Given the description of an element on the screen output the (x, y) to click on. 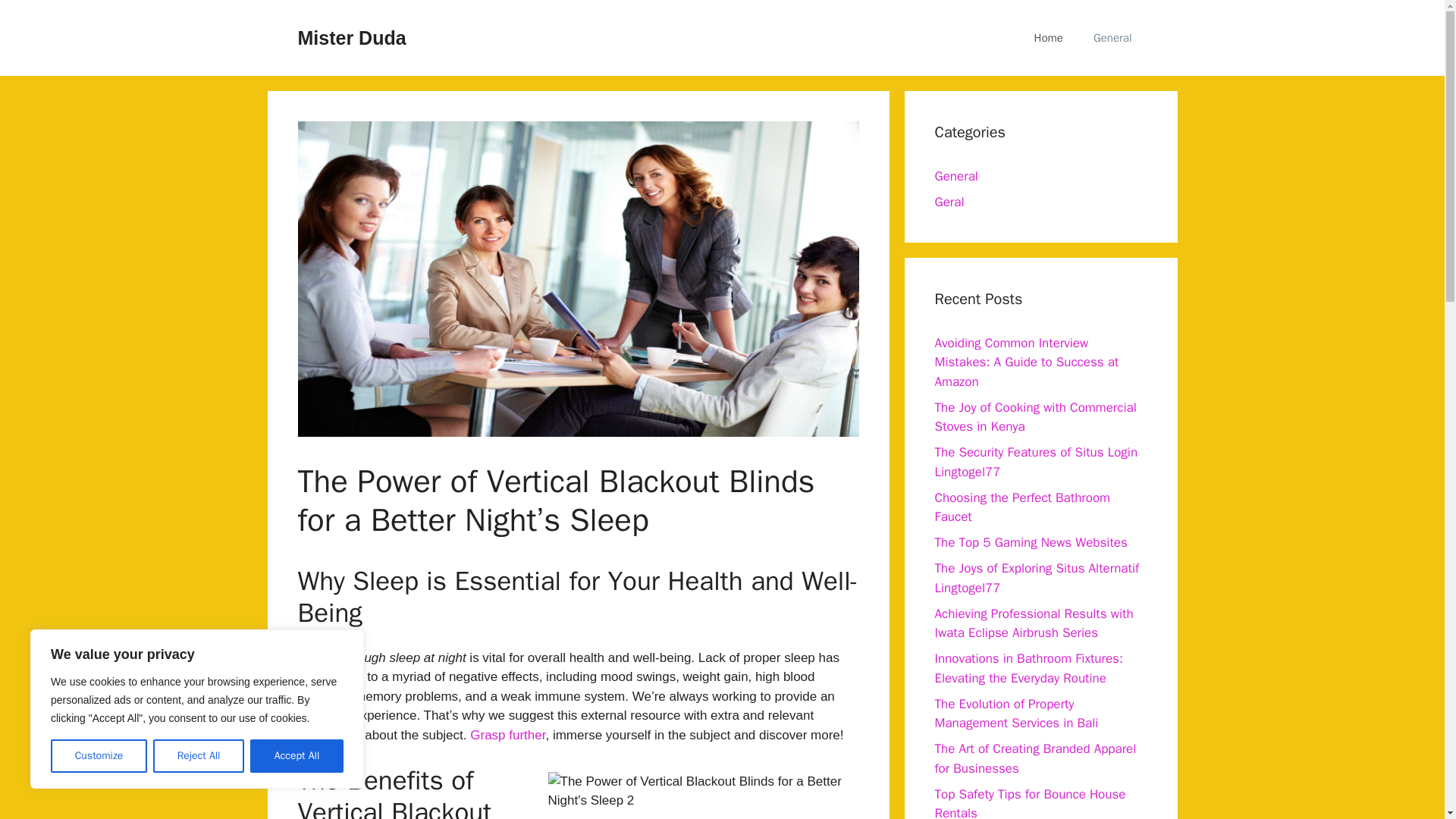
General (955, 176)
Mister Duda (351, 37)
Reject All (198, 756)
The Security Features of Situs Login Lingtogel77 (1035, 461)
The Joy of Cooking with Commercial Stoves in Kenya (1034, 416)
Customize (98, 756)
Choosing the Perfect Bathroom Faucet (1021, 507)
Accept All (296, 756)
Grasp further (507, 735)
General (1112, 37)
The Top 5 Gaming News Websites (1030, 542)
The Joys of Exploring Situs Alternatif Lingtogel77 (1036, 578)
Home (1048, 37)
Geral (948, 201)
